Given the description of an element on the screen output the (x, y) to click on. 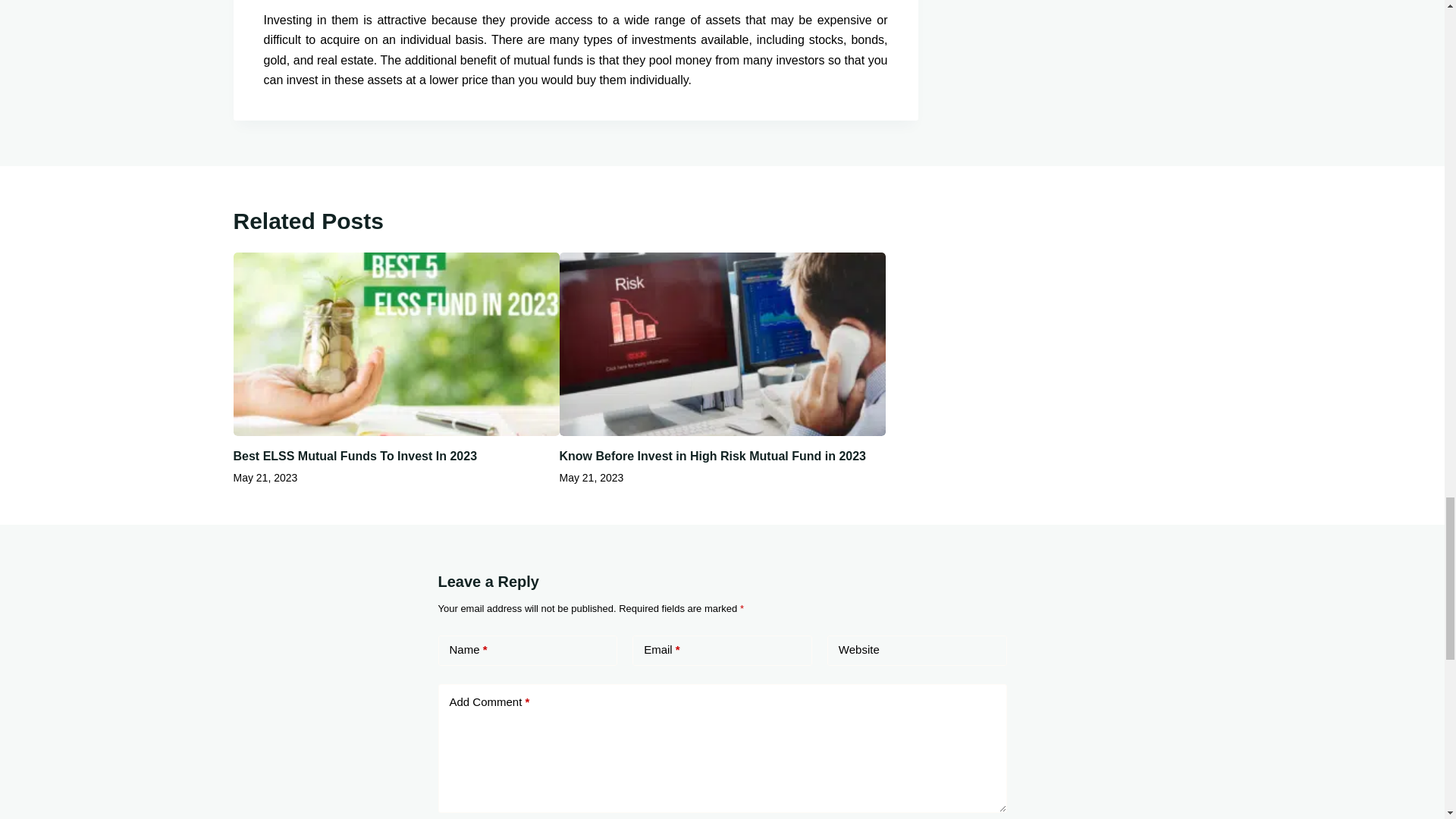
Best ELSS Mutual Funds To Invest In 2023 (354, 455)
Know Before Invest in High Risk Mutual Fund in 2023 (712, 455)
